Given the description of an element on the screen output the (x, y) to click on. 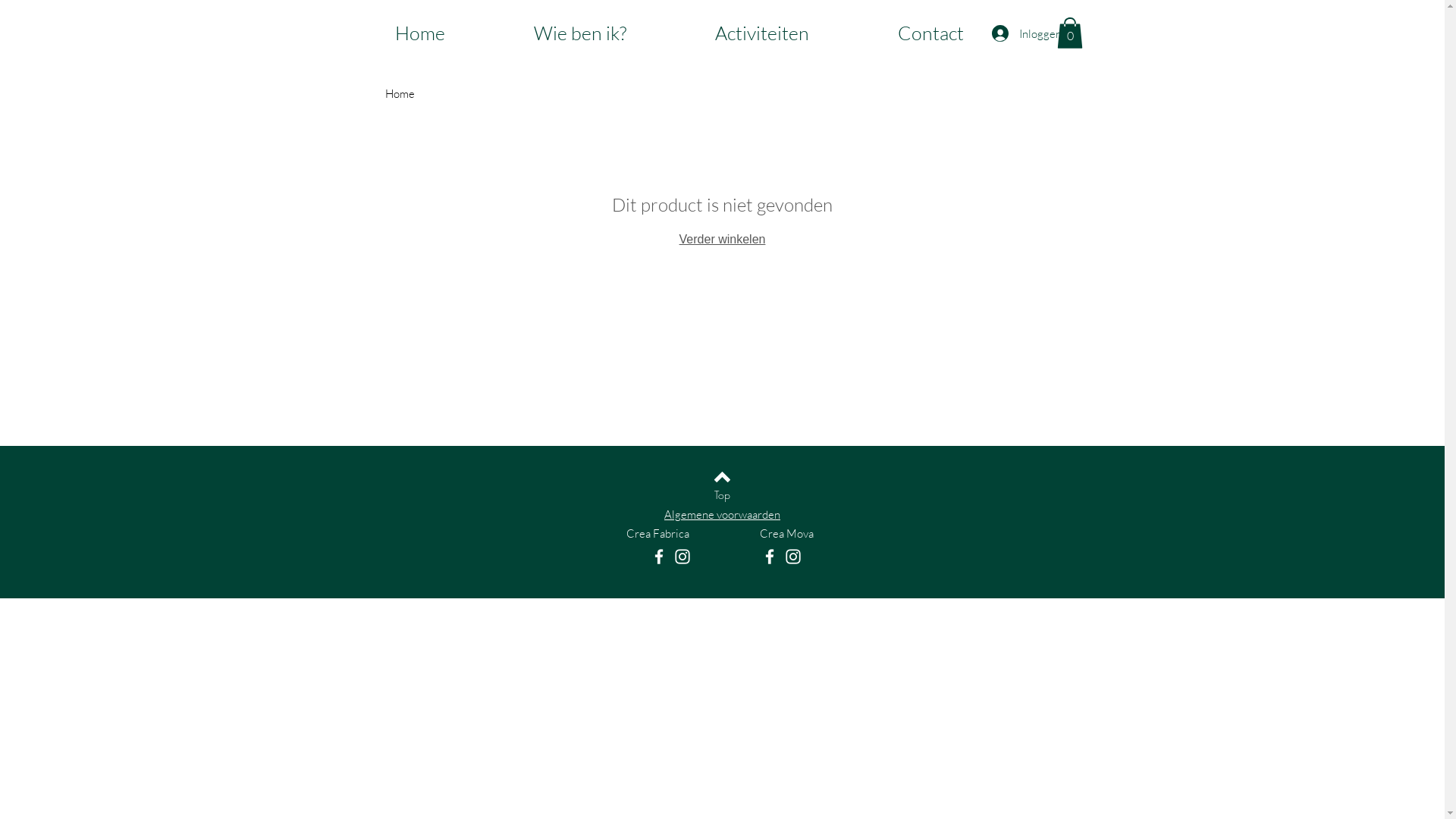
Home Element type: text (399, 93)
0 Element type: text (1069, 32)
Crea Fabrica Element type: text (657, 533)
Home Element type: text (419, 32)
Top Element type: text (721, 494)
Verder winkelen Element type: text (722, 238)
Wie ben ik? Element type: text (580, 32)
Back to top Element type: hover (722, 476)
Algemene voorwaarden Element type: text (722, 514)
Crea Mova Element type: text (786, 533)
Contact Element type: text (930, 32)
Inloggen Element type: text (1007, 33)
Activiteiten Element type: text (761, 32)
